Given the description of an element on the screen output the (x, y) to click on. 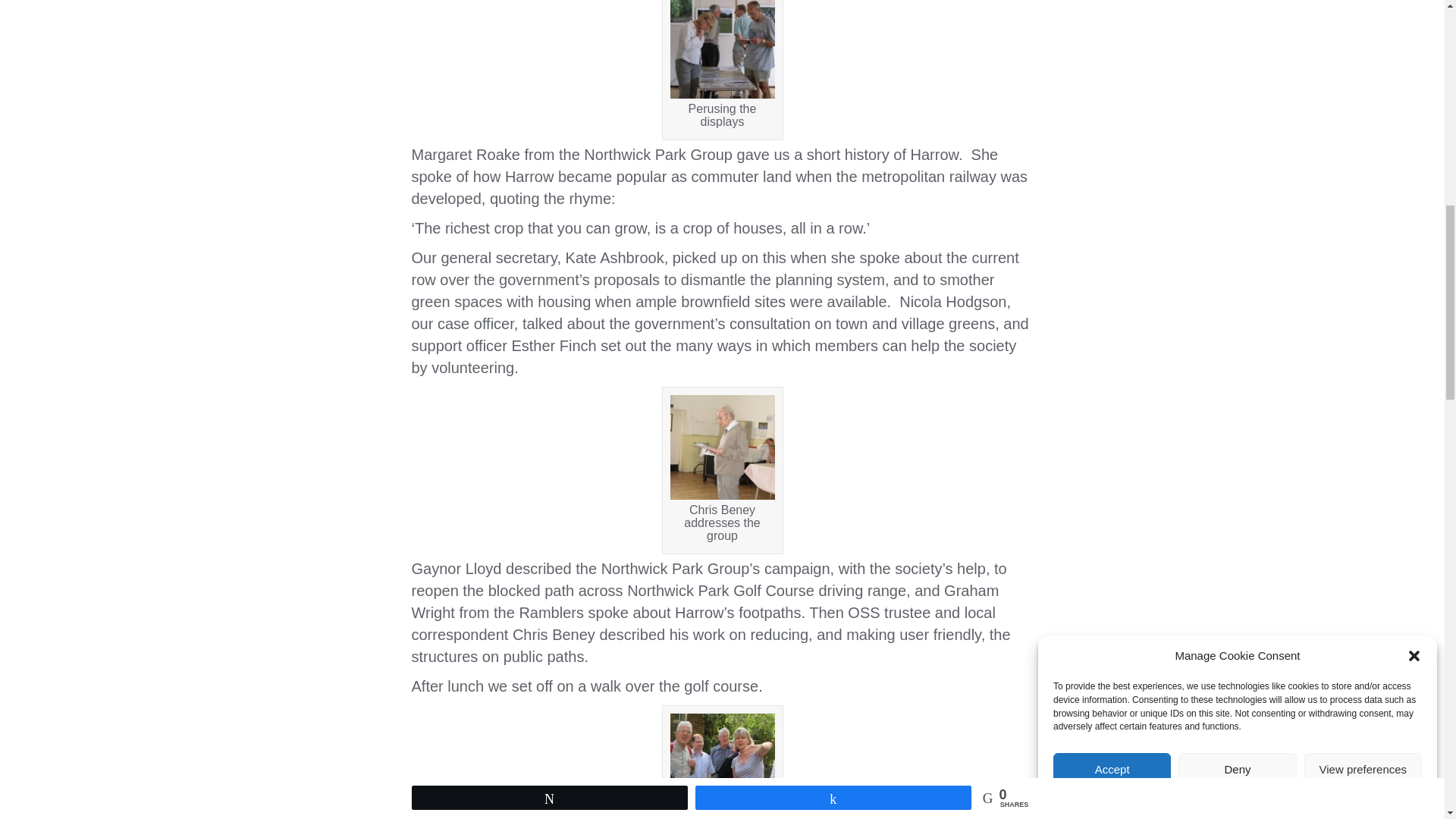
1 In the hall (721, 49)
2 Chris Beney (721, 446)
Deny (1236, 223)
Cookie Policy (1196, 143)
3 Setting off (721, 765)
Accept (1111, 254)
Privacy Statement (1268, 121)
View preferences (1363, 207)
